Given the description of an element on the screen output the (x, y) to click on. 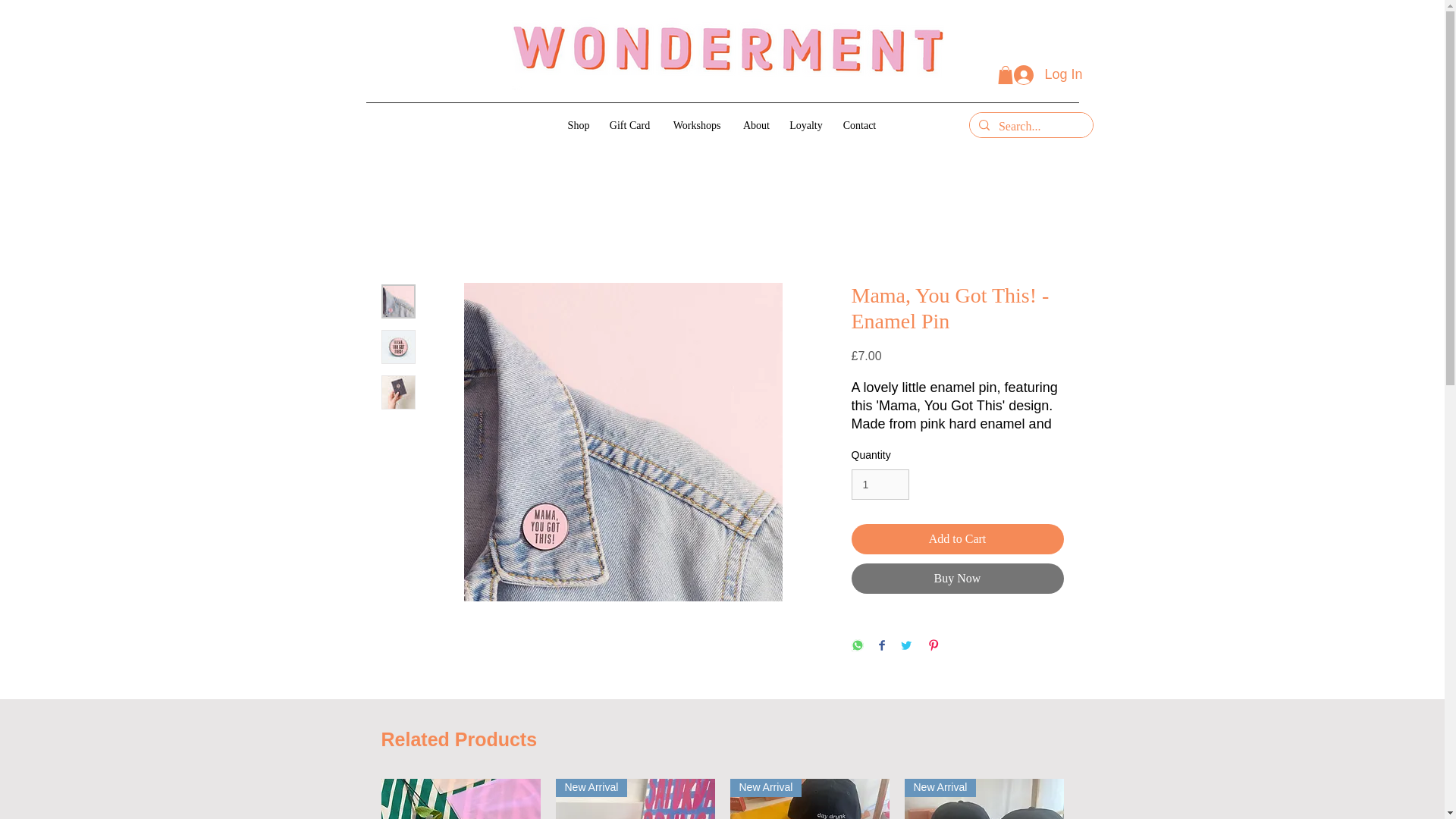
Contact (859, 125)
About (755, 125)
New Arrival (634, 798)
Gift Card (629, 125)
Log In (1048, 74)
Add to Cart (956, 539)
Workshops (697, 125)
Buy Now (956, 578)
1 (879, 484)
Loyalty (805, 125)
